Given the description of an element on the screen output the (x, y) to click on. 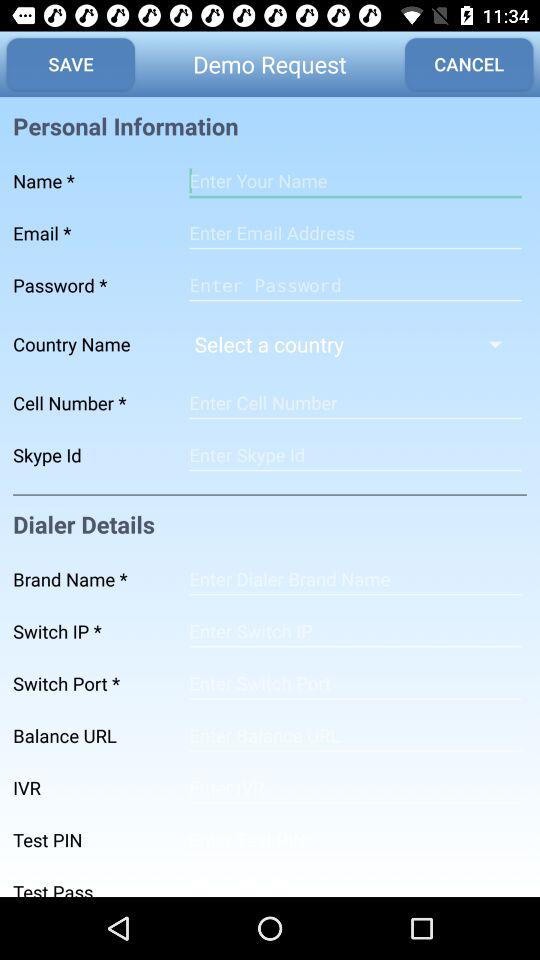
enter brand name (355, 579)
